Given the description of an element on the screen output the (x, y) to click on. 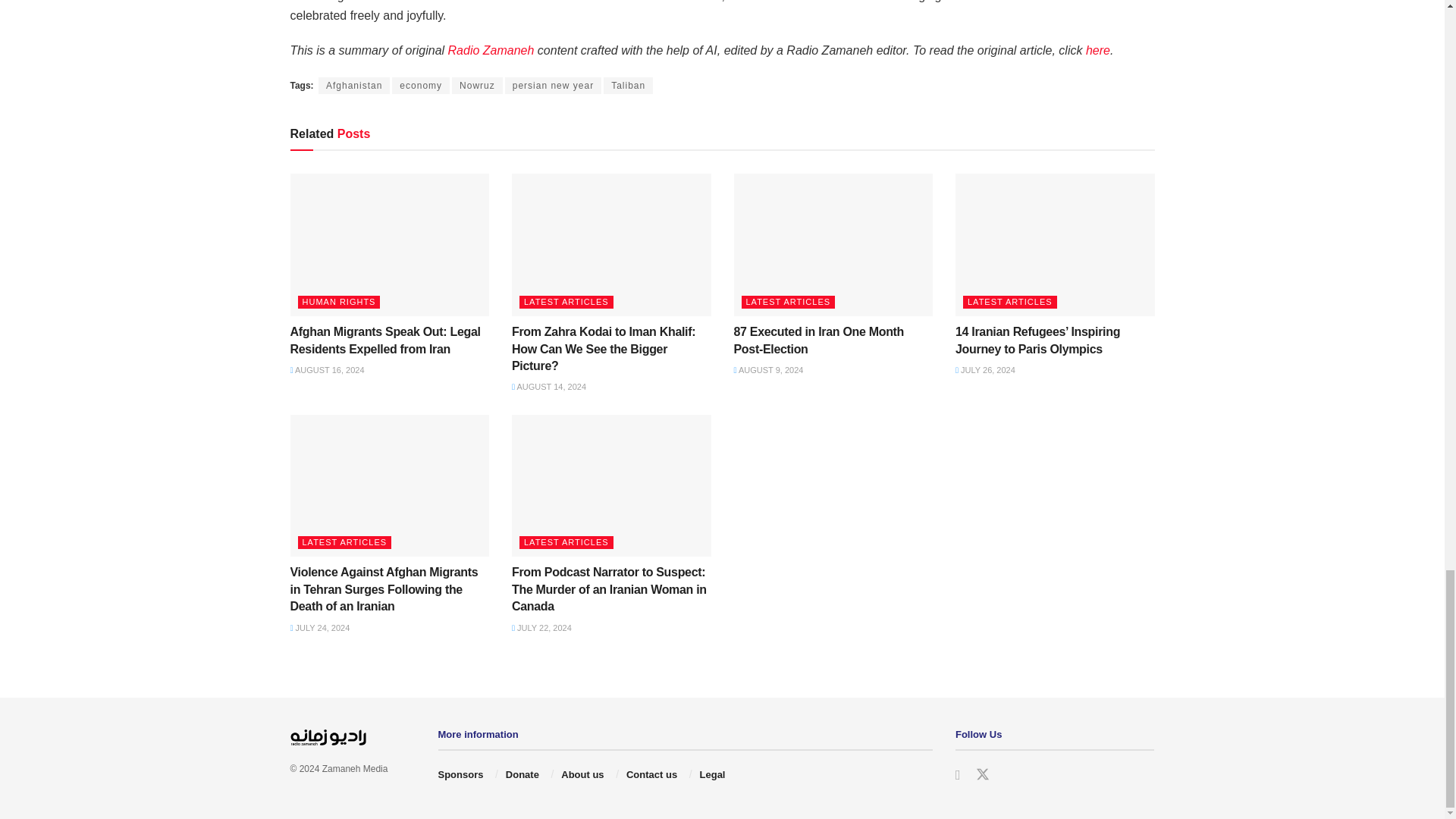
Radio Zamaneh (491, 50)
economy (420, 85)
Afghanistan (354, 85)
Nowruz (476, 85)
here (1097, 50)
